Given the description of an element on the screen output the (x, y) to click on. 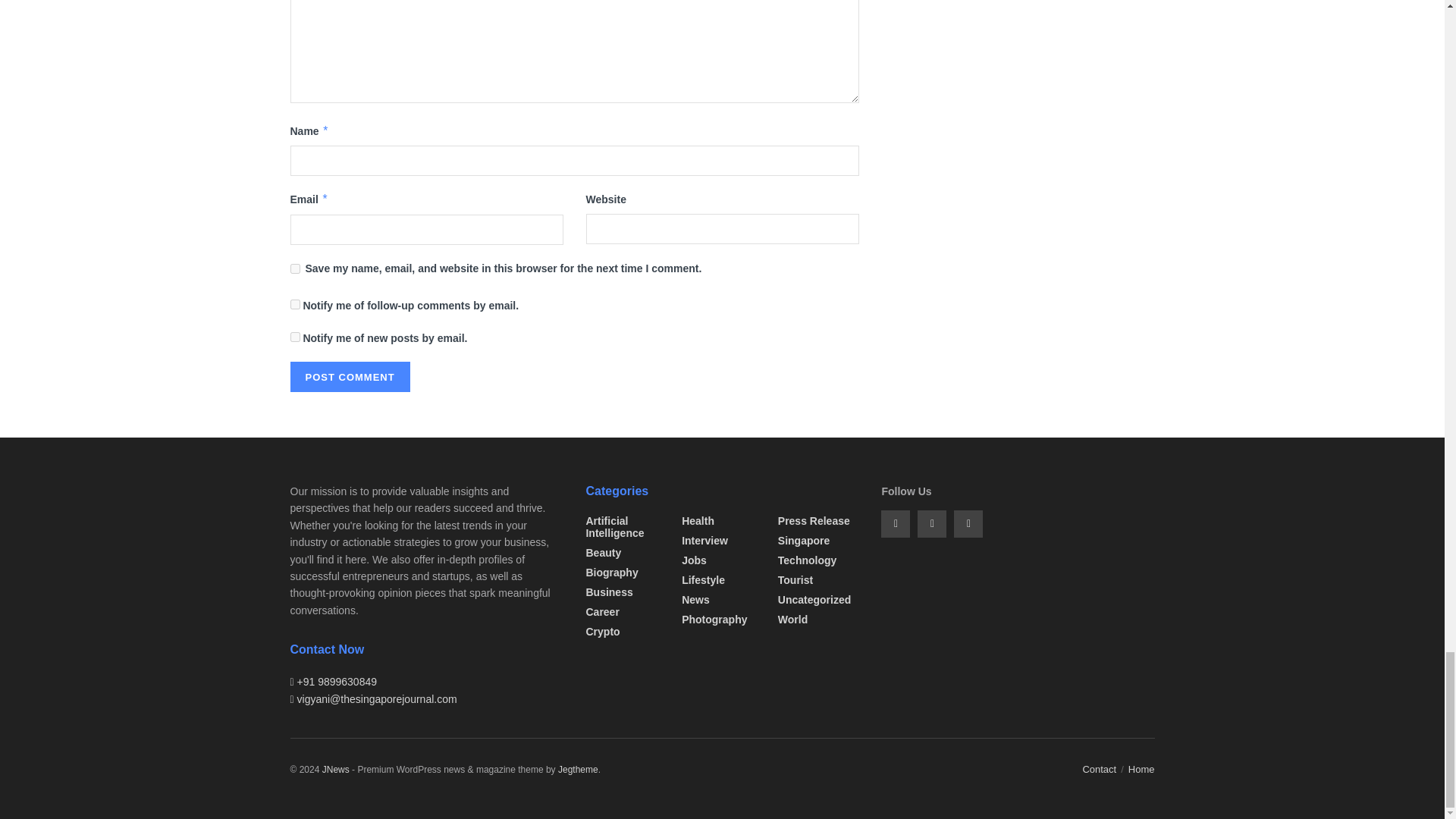
subscribe (294, 337)
Post Comment (349, 376)
subscribe (294, 304)
yes (294, 268)
Jegtheme (577, 769)
